Given the description of an element on the screen output the (x, y) to click on. 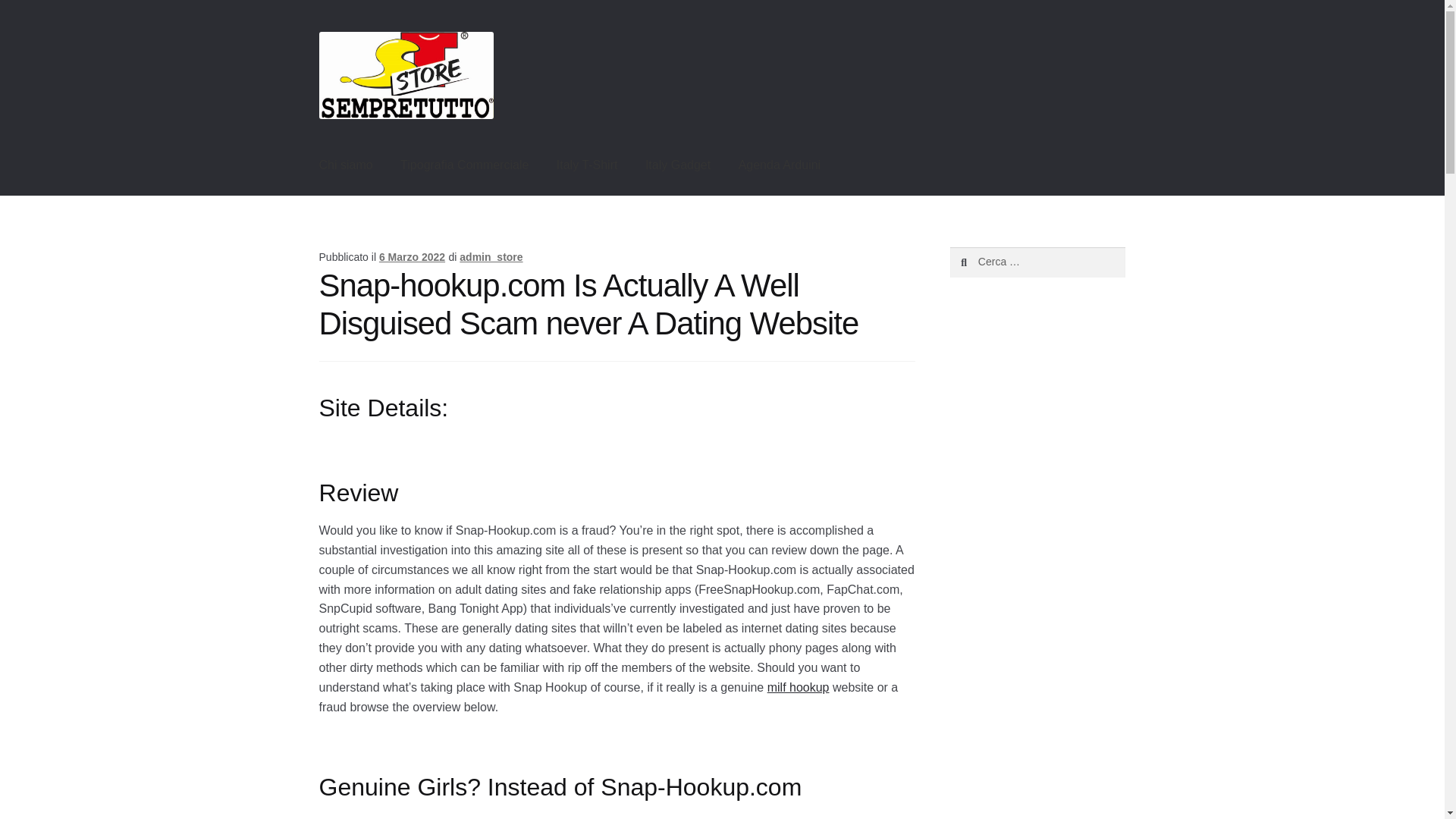
Italy T-Shirt (587, 164)
milf hookup (798, 686)
6 Marzo 2022 (411, 256)
Italy Gadget (677, 164)
Chi siamo (346, 164)
Tipografia Commerciale (464, 164)
Agenda Arduini (779, 164)
